Given the description of an element on the screen output the (x, y) to click on. 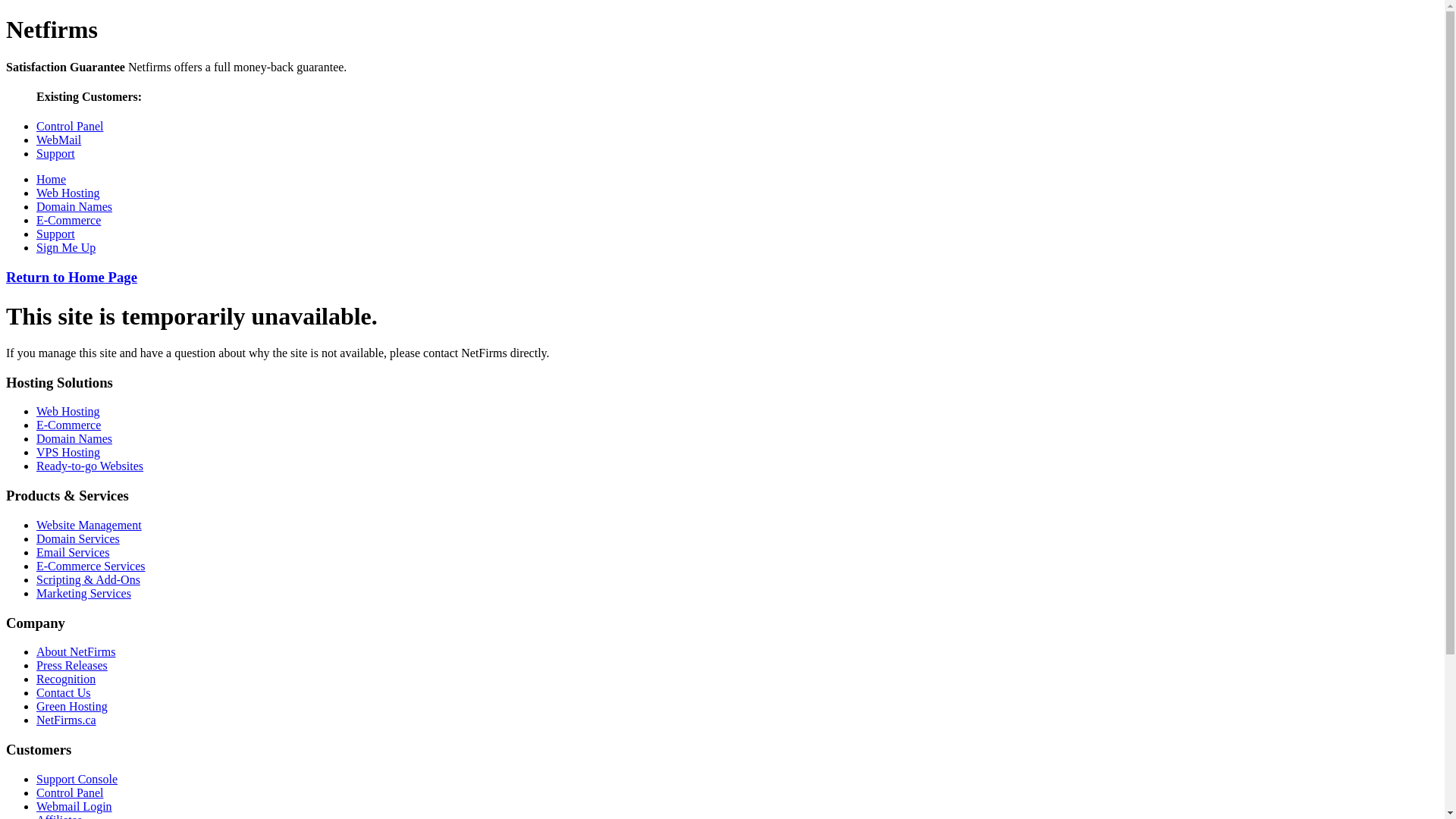
Control Panel Element type: text (69, 125)
VPS Hosting Element type: text (68, 451)
Return to Home Page Element type: text (71, 277)
Recognition Element type: text (65, 678)
Marketing Services Element type: text (83, 592)
Webmail Login Element type: text (74, 806)
E-Commerce Services Element type: text (90, 565)
Domain Names Element type: text (74, 206)
NetFirms.ca Element type: text (66, 719)
Sign Me Up Element type: text (65, 247)
Web Hosting Element type: text (68, 192)
Support Element type: text (55, 153)
Scripting & Add-Ons Element type: text (88, 579)
About NetFirms Element type: text (75, 651)
Green Hosting Element type: text (71, 705)
Ready-to-go Websites Element type: text (89, 465)
Home Element type: text (50, 178)
Support Console Element type: text (76, 778)
Website Management Element type: text (88, 524)
Contact Us Element type: text (63, 692)
Web Hosting Element type: text (68, 410)
WebMail Element type: text (58, 139)
E-Commerce Element type: text (68, 424)
Email Services Element type: text (72, 552)
Control Panel Element type: text (69, 792)
Domain Services Element type: text (77, 538)
Support Element type: text (55, 233)
Domain Names Element type: text (74, 438)
Press Releases Element type: text (71, 664)
E-Commerce Element type: text (68, 219)
